Given the description of an element on the screen output the (x, y) to click on. 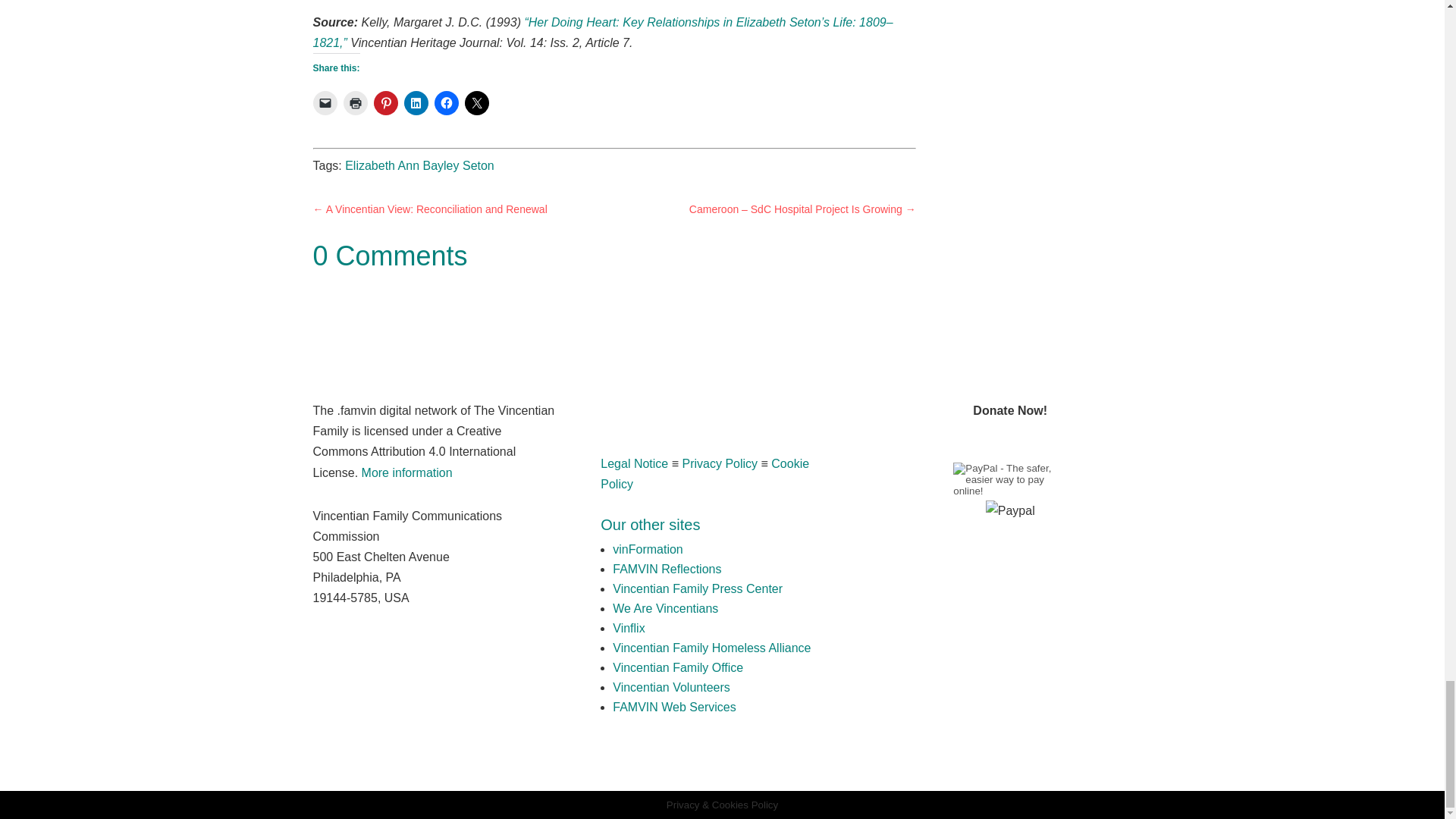
Click to share on LinkedIn (415, 102)
Click to share on Pinterest (384, 102)
Click to print (354, 102)
Click to share on Facebook (445, 102)
Click to share on X (475, 102)
Click to email a link to a friend (324, 102)
FAMVIN Legal stuff (406, 472)
